Given the description of an element on the screen output the (x, y) to click on. 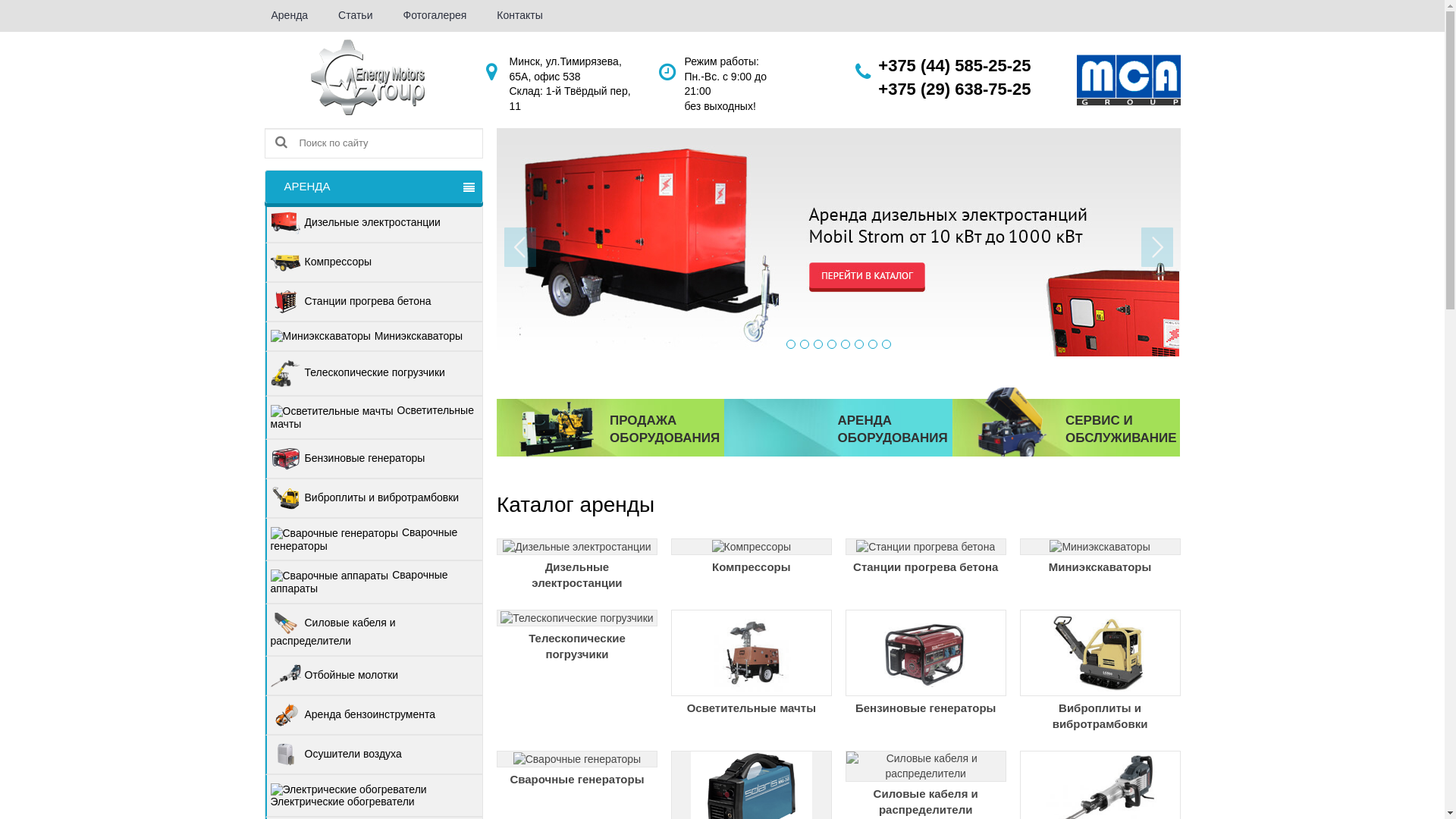
+375 (29) 638-75-25 Element type: text (954, 88)
+375 (44) 585-25-25 Element type: text (954, 65)
